Given the description of an element on the screen output the (x, y) to click on. 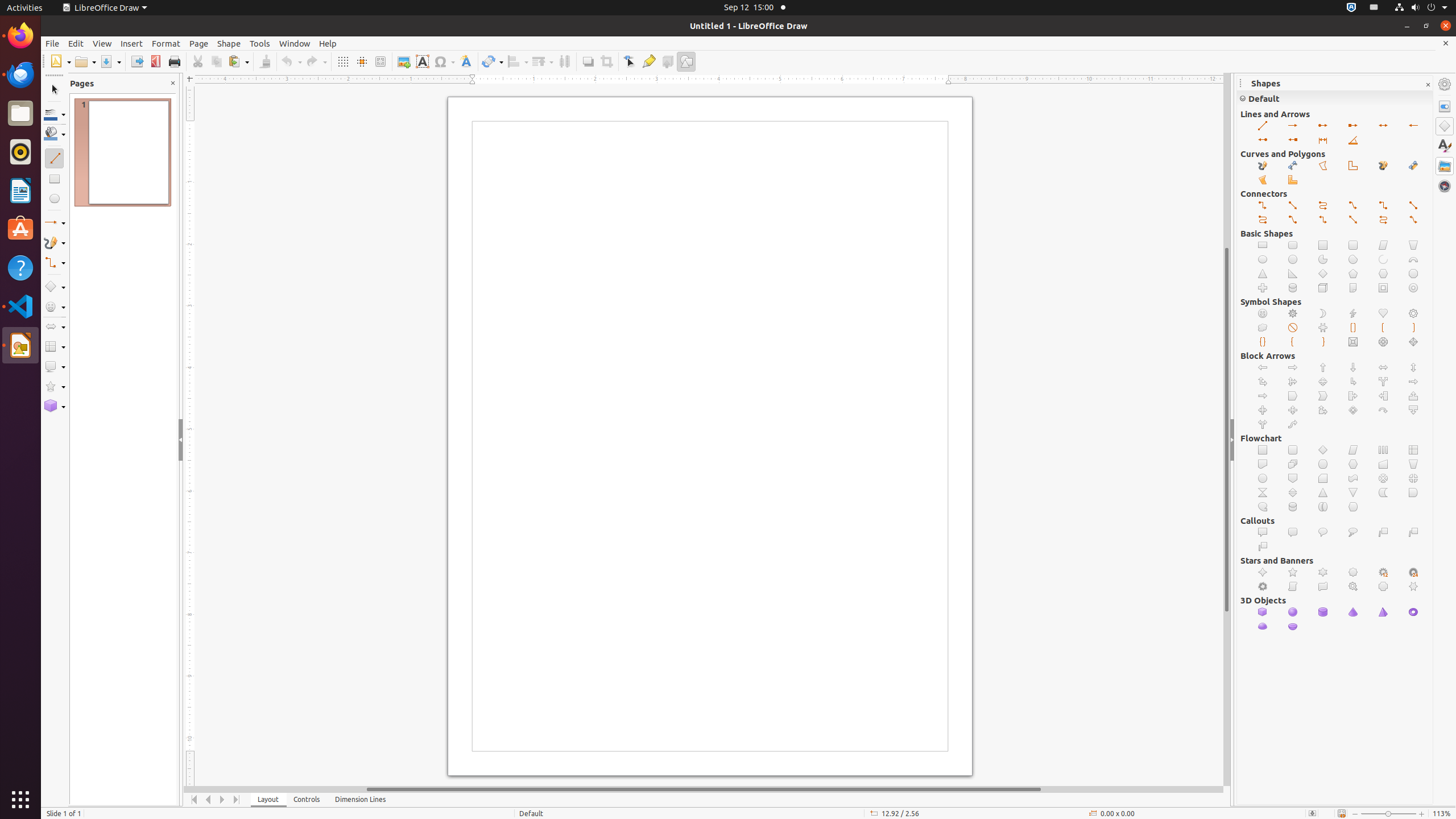
Square Bevel Element type: list-item (1353, 341)
Curve Element type: list-item (1292, 165)
Line (45°) Element type: list-item (1353, 140)
Fontwork Style Element type: toggle-button (465, 61)
New Element type: push-button (59, 61)
